Given the description of an element on the screen output the (x, y) to click on. 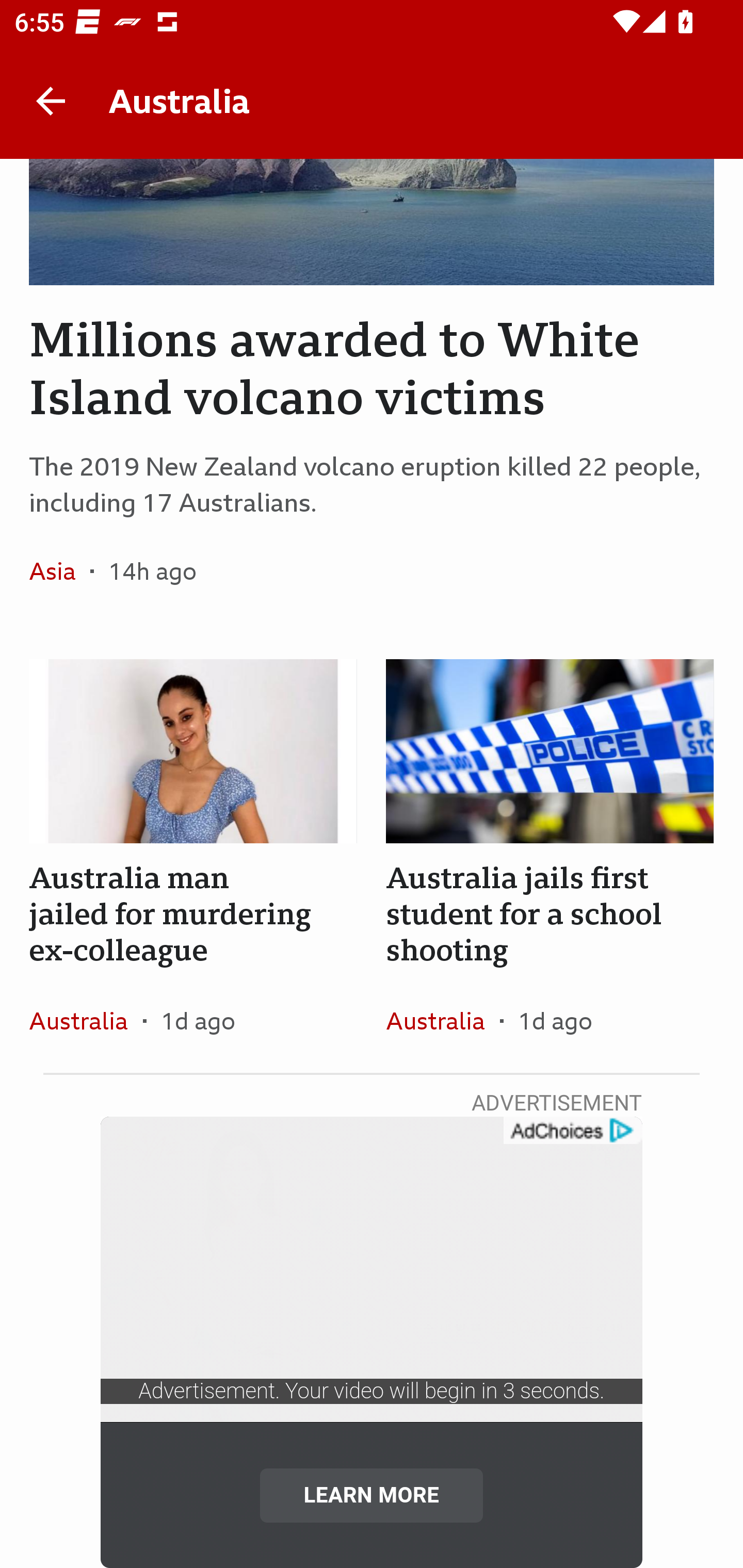
Back (50, 101)
Asia In the section Asia (59, 570)
Australia In the section Australia (85, 1020)
Australia In the section Australia (442, 1020)
get?name=admarker-full-tl (571, 1131)
LEARN MORE (371, 1495)
